Given the description of an element on the screen output the (x, y) to click on. 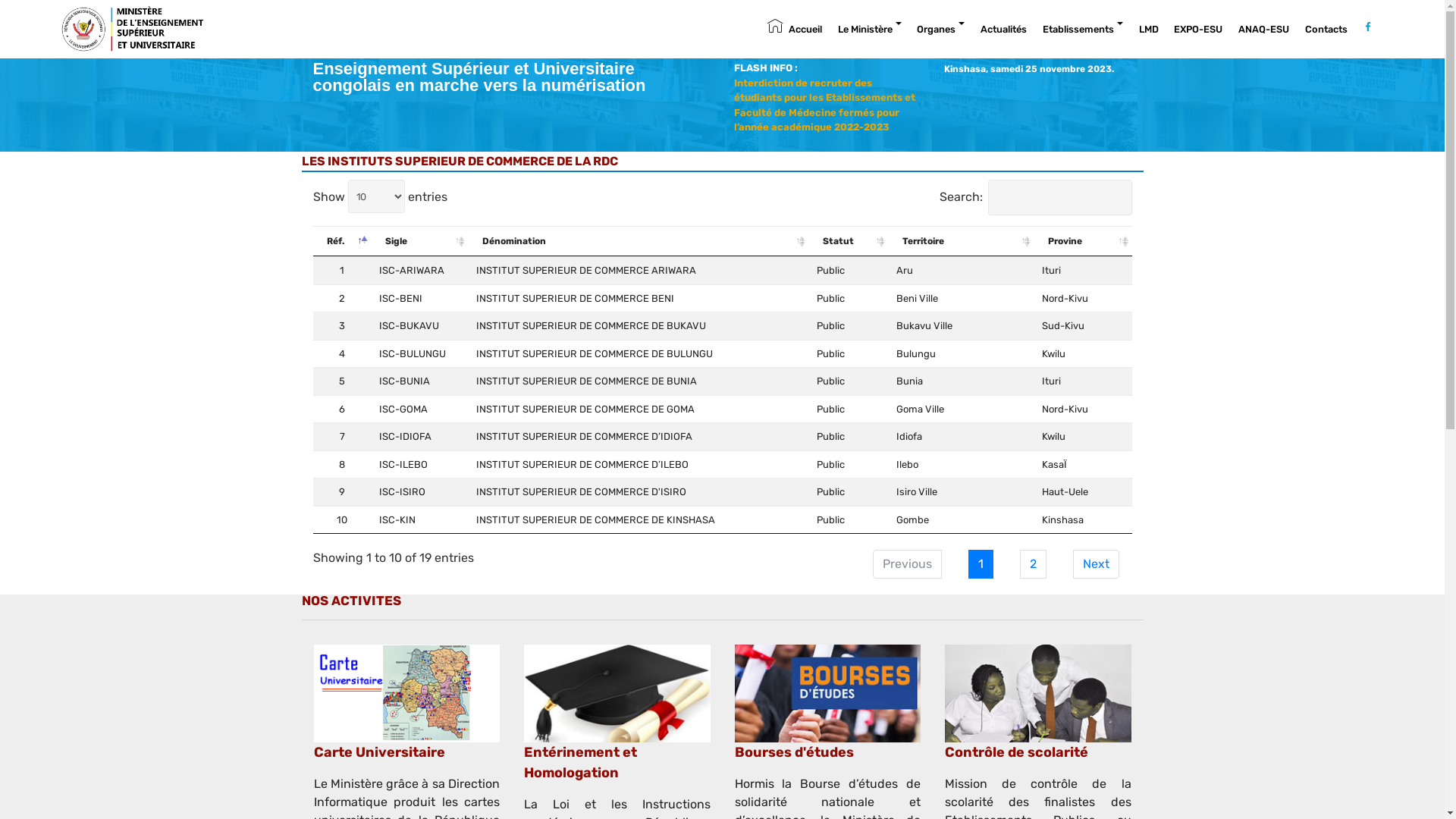
2 Element type: text (1032, 563)
1 Element type: text (979, 563)
Contacts Element type: text (1326, 29)
Next Element type: text (1095, 563)
Previous Element type: text (906, 563)
EXPO-ESU Element type: text (1197, 29)
LMD Element type: text (1148, 29)
Organes Element type: text (940, 29)
ANAQ-ESU Element type: text (1263, 29)
Accueil Element type: text (794, 29)
Etablissements Element type: text (1082, 29)
